Given the description of an element on the screen output the (x, y) to click on. 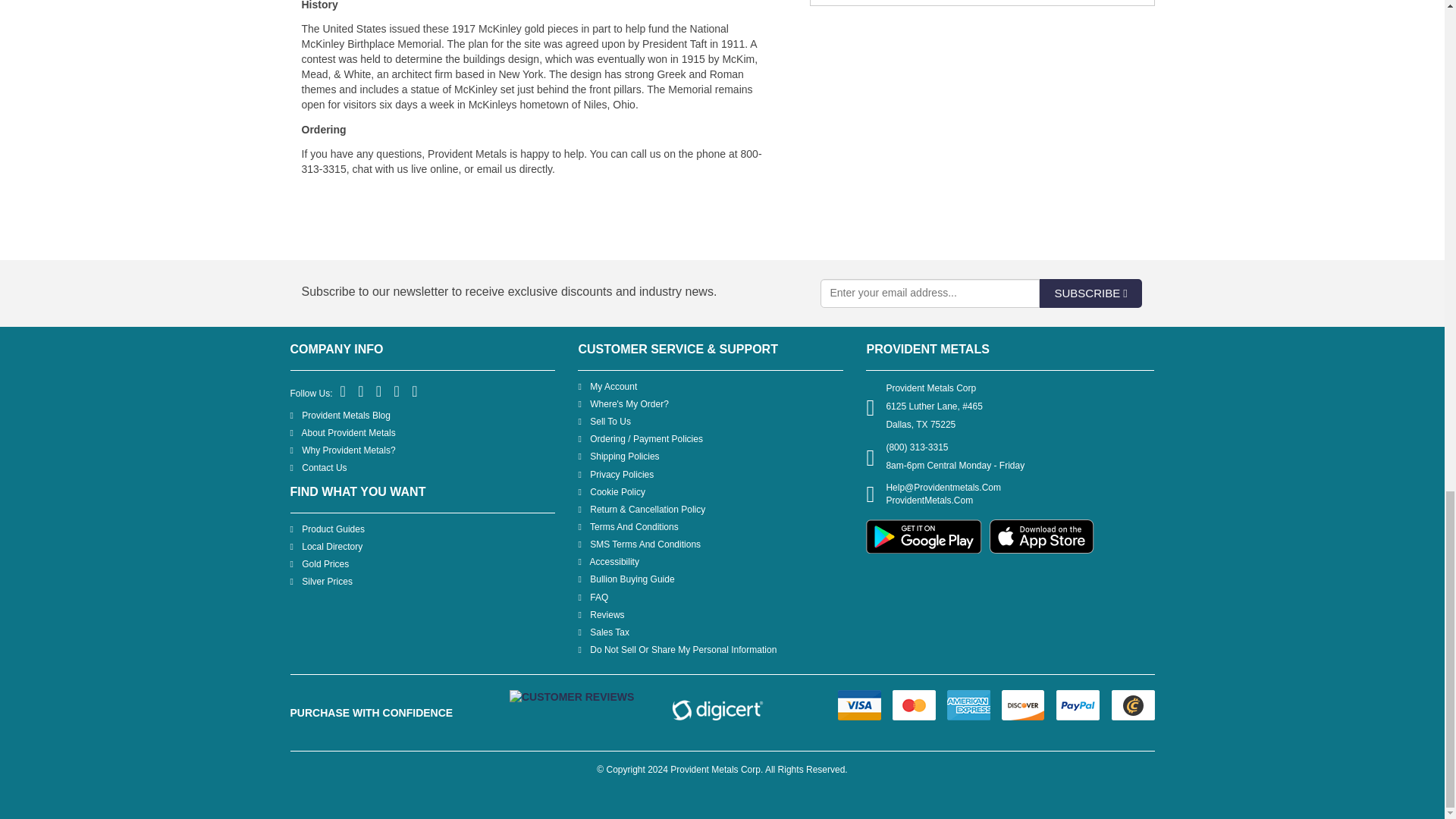
Pinterest (379, 391)
You Tube (397, 391)
Instagram (415, 391)
Twitter (361, 391)
Facebook (344, 391)
